Given the description of an element on the screen output the (x, y) to click on. 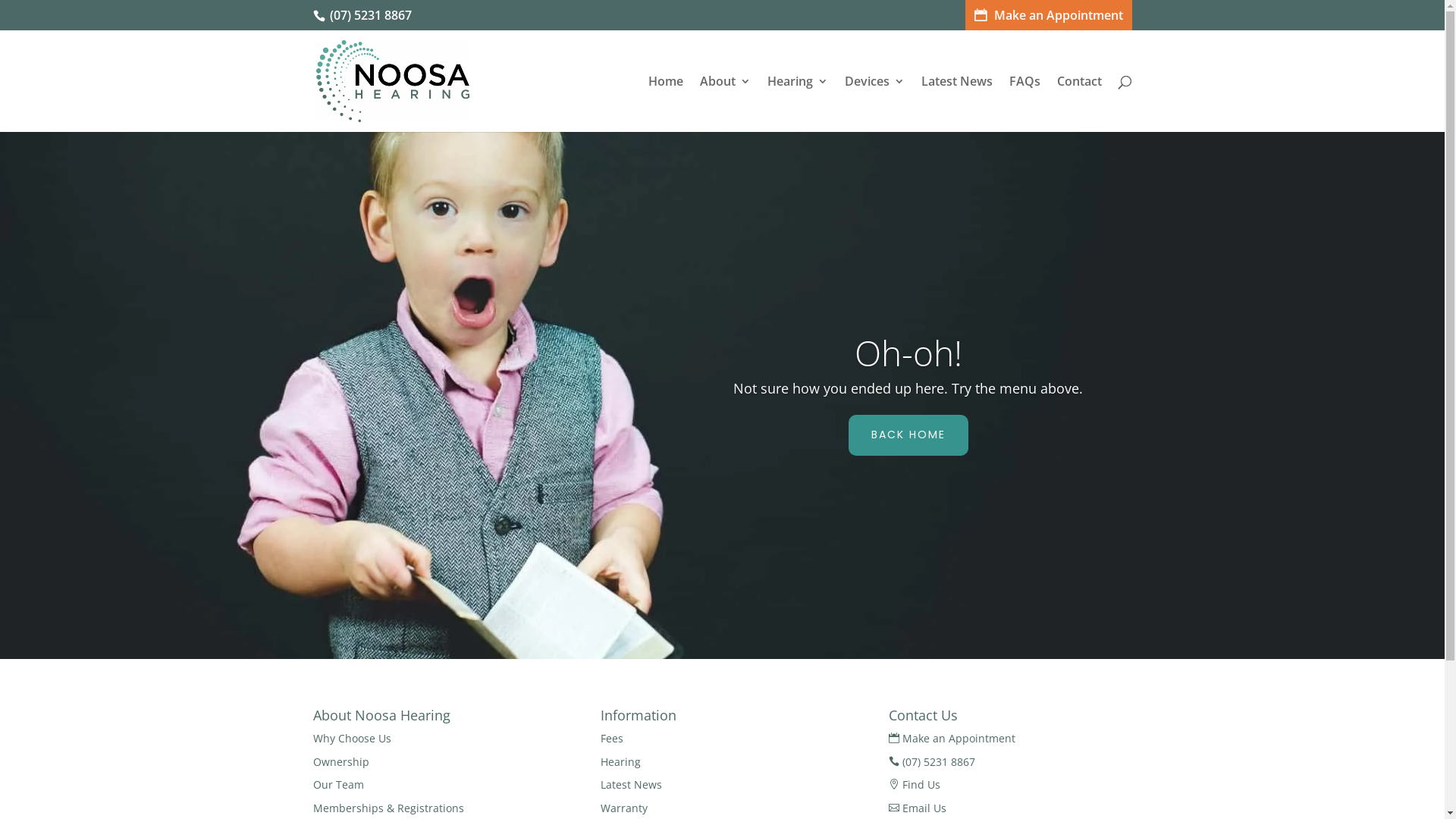
Ownership Element type: text (340, 761)
Latest News Element type: text (631, 784)
About Element type: text (724, 103)
BACK HOME Element type: text (908, 434)
Fees Element type: text (611, 738)
Hearing Element type: text (620, 761)
Why Choose Us Element type: text (351, 738)
Contact Element type: text (1079, 103)
Our Team Element type: text (337, 784)
Memberships & Registrations Element type: text (387, 807)
Warranty Element type: text (623, 807)
Oh-oh! Element type: text (908, 352)
Home Element type: text (664, 103)
Make an Appointment Element type: text (1047, 15)
(07) 5231 8867 Element type: text (366, 14)
Latest News Element type: text (955, 103)
Devices Element type: text (874, 103)
FAQs Element type: text (1023, 103)
Hearing Element type: text (797, 103)
